Given the description of an element on the screen output the (x, y) to click on. 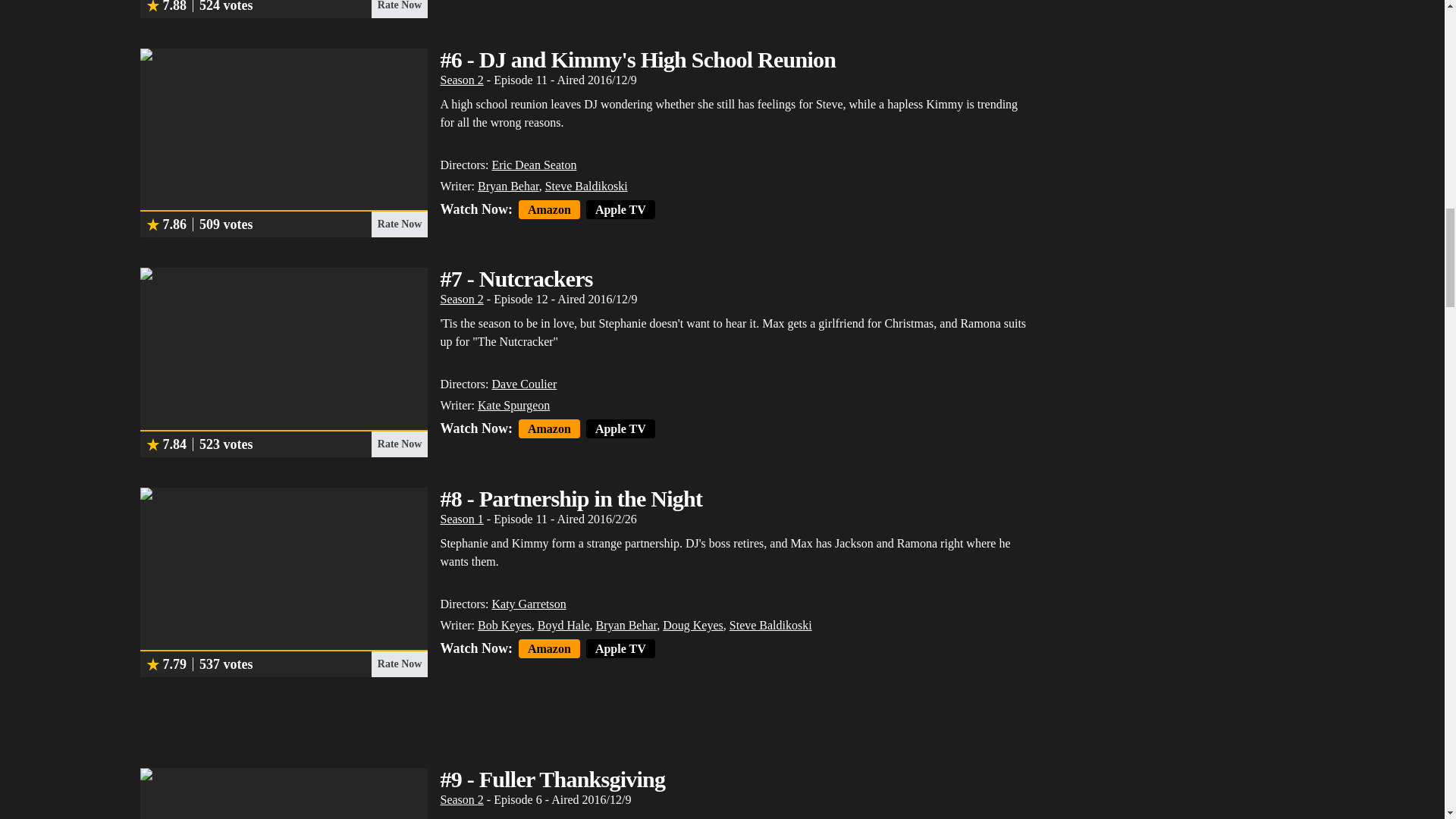
Steve Baldikoski (585, 185)
Eric Dean Seaton (534, 164)
Bryan Behar (507, 185)
Rate Now (399, 9)
Season 2 (461, 79)
Rate Now (399, 224)
